Given the description of an element on the screen output the (x, y) to click on. 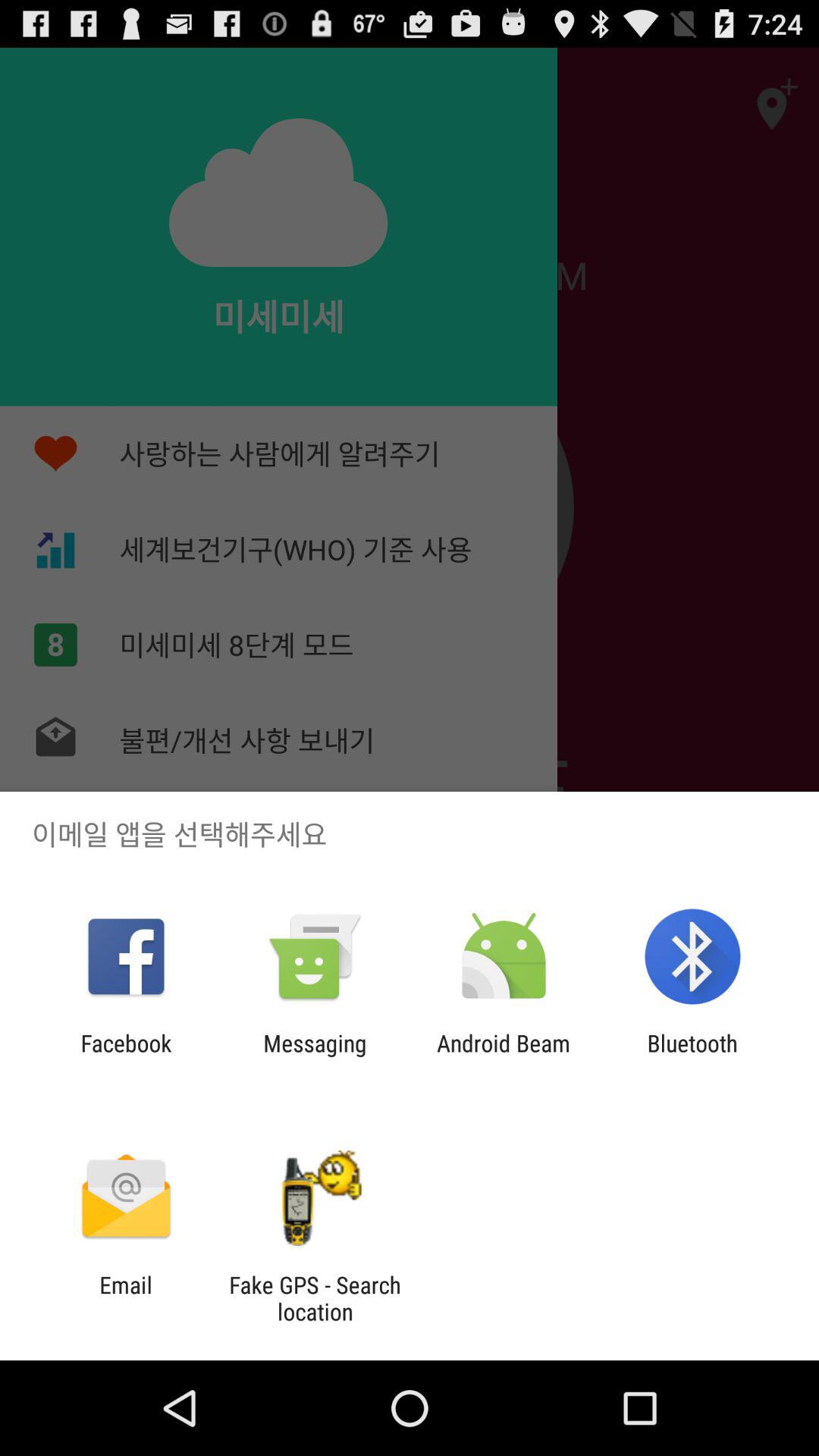
jump until facebook icon (125, 1056)
